Given the description of an element on the screen output the (x, y) to click on. 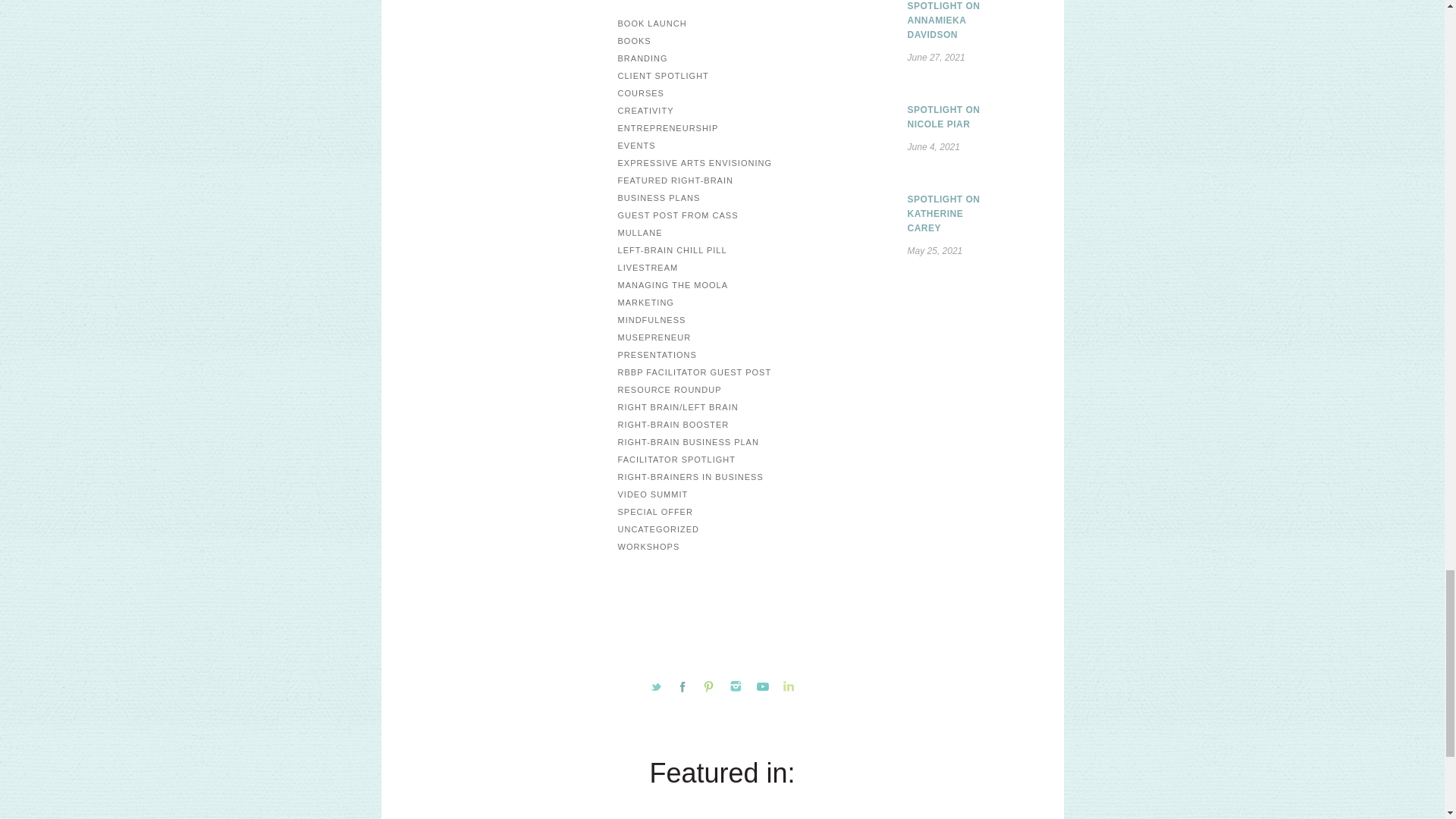
2021-06-27 (898, 57)
2021-06-04 (898, 147)
2021-05-25 (898, 251)
